Given the description of an element on the screen output the (x, y) to click on. 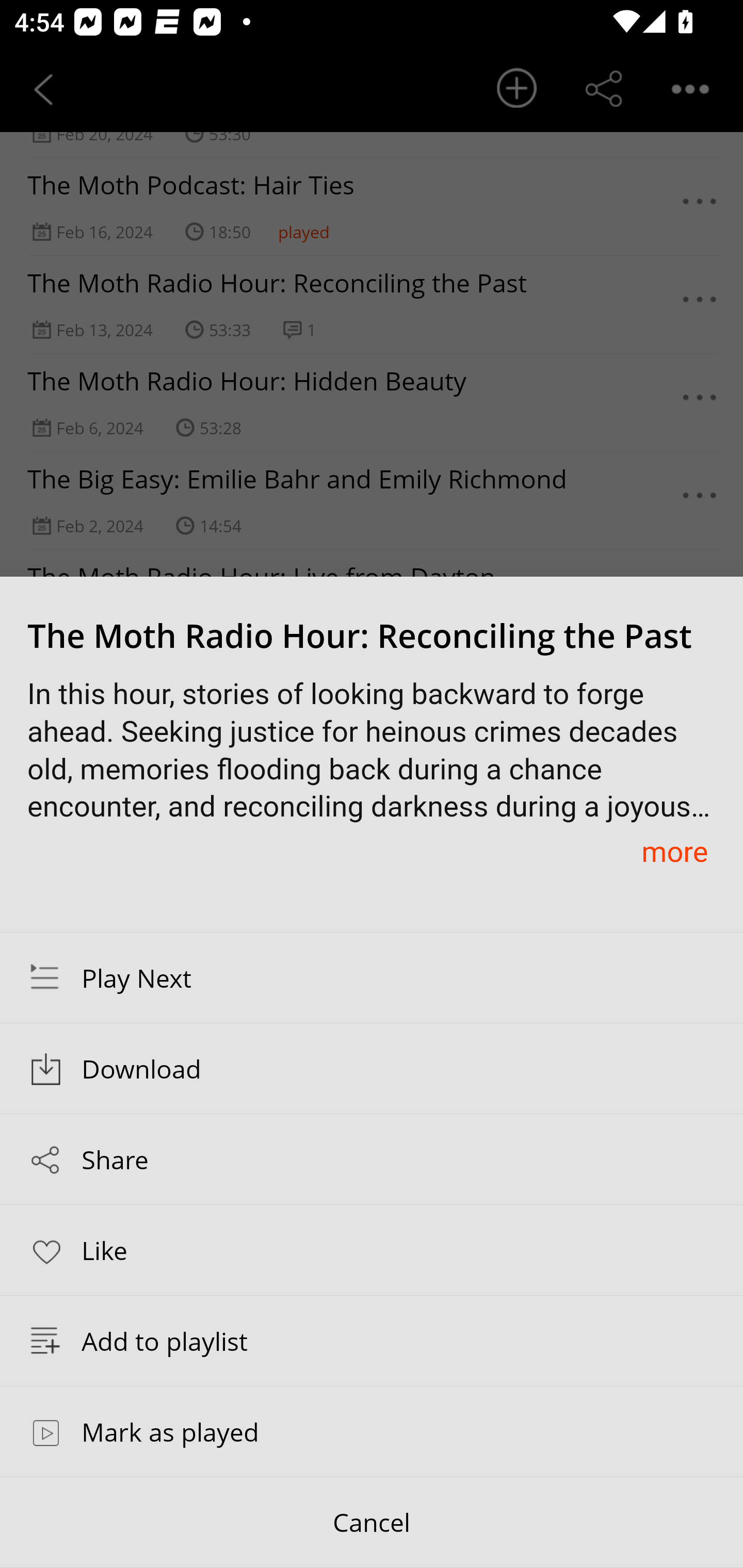
more (674, 851)
Play Next (371, 977)
Download (371, 1068)
Share (371, 1159)
Like (371, 1249)
Add to playlist (371, 1340)
Mark as played (371, 1431)
Cancel (371, 1522)
